Given the description of an element on the screen output the (x, y) to click on. 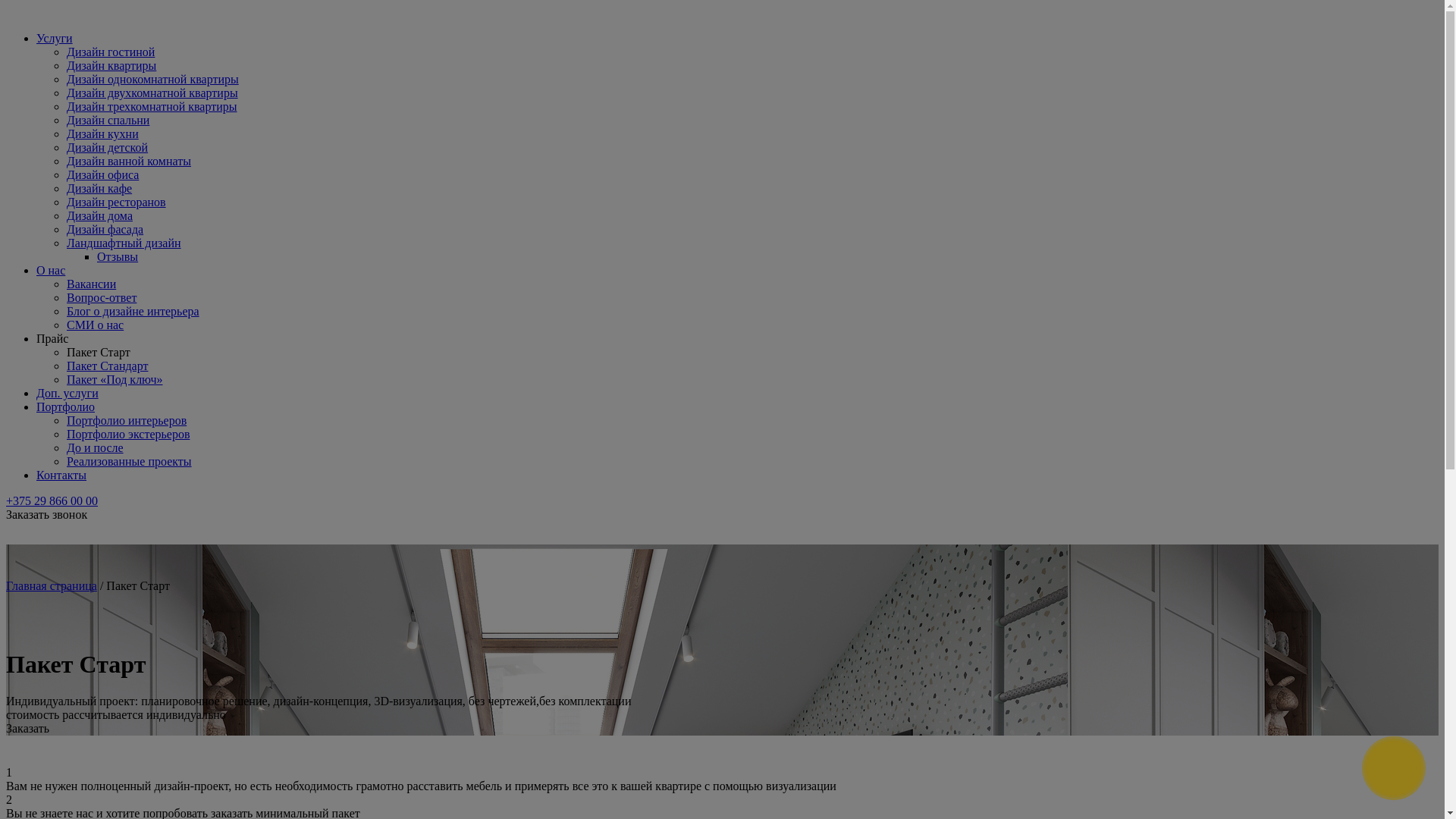
+375 29 866 00 00 Element type: text (51, 500)
